Given the description of an element on the screen output the (x, y) to click on. 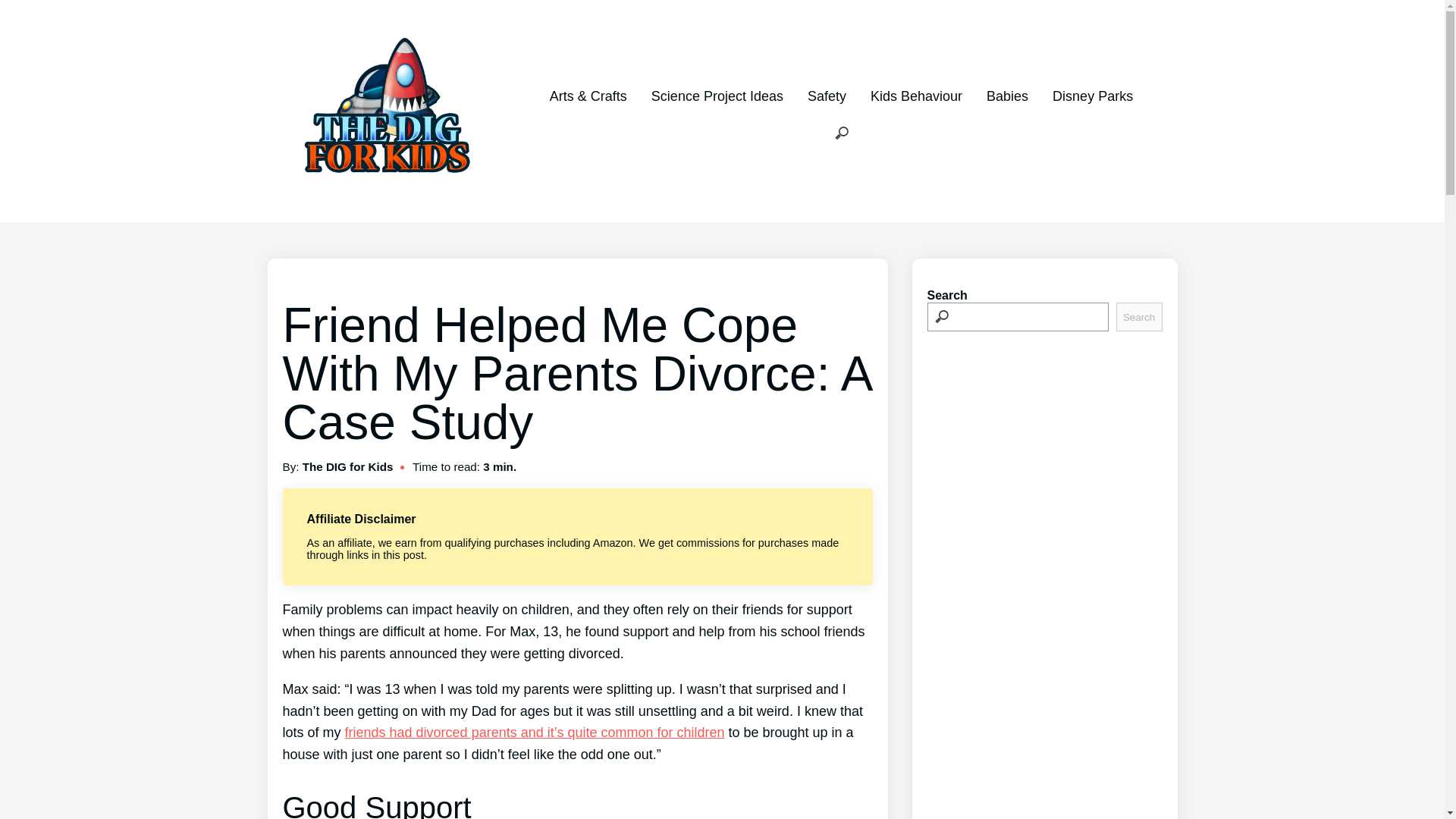
Safety (826, 96)
Disney Parks (1092, 96)
Science Project Ideas (716, 96)
Kids Behaviour (916, 96)
Search (1138, 316)
Babies (1007, 96)
Search for: (841, 133)
